Given the description of an element on the screen output the (x, y) to click on. 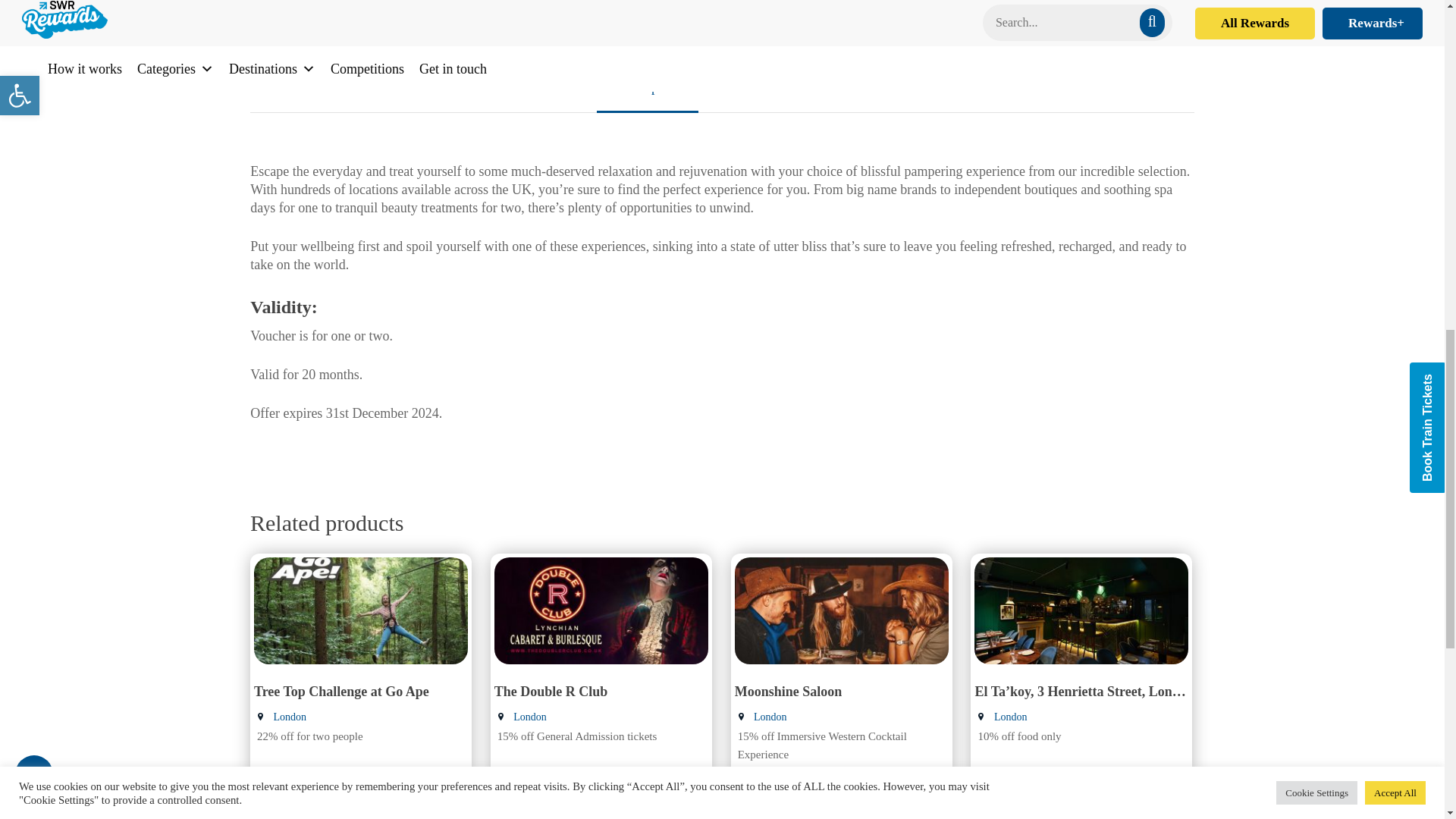
Buyagift (911, 13)
